Given the description of an element on the screen output the (x, y) to click on. 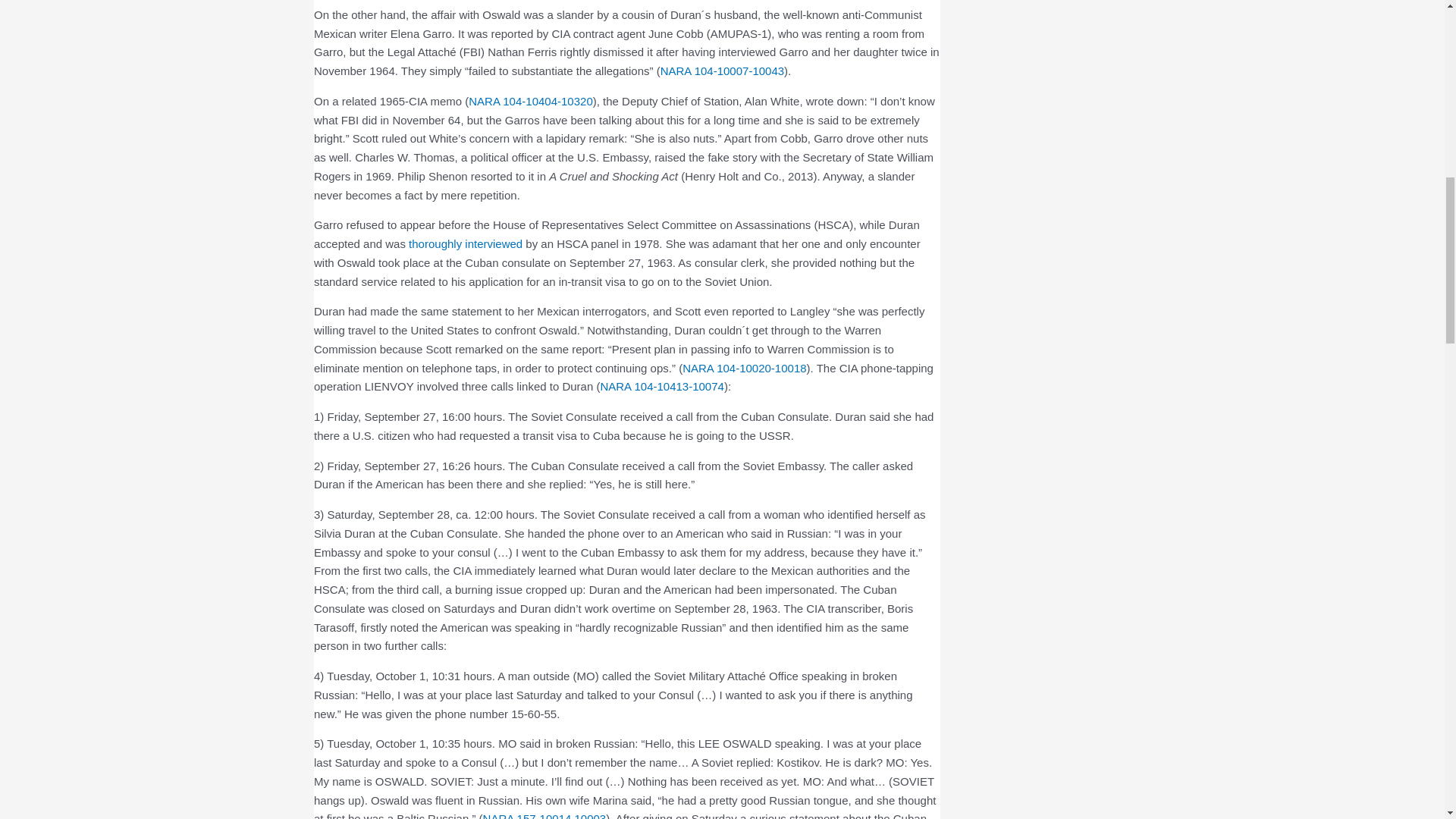
thoroughly interviewed (465, 243)
NARA 104-10404-10320 (530, 101)
NARA 104-10007-10043 (722, 70)
NARA 157-10014.10003 (545, 815)
NARA 104-10413-10074 (661, 386)
NARA 104-10020-10018 (744, 367)
